Given the description of an element on the screen output the (x, y) to click on. 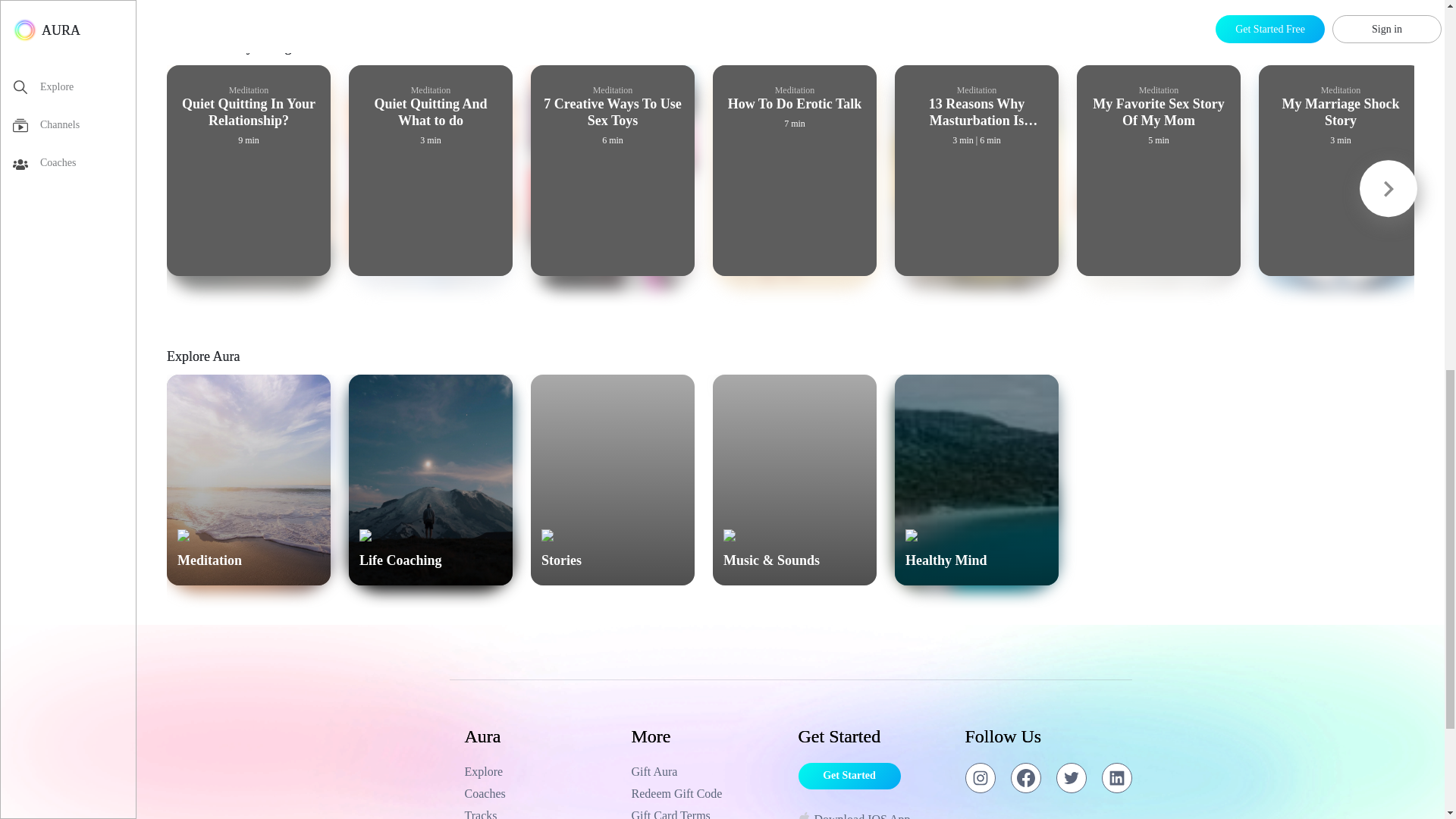
View All (1392, 51)
Tracks (539, 812)
Redeem Gift Code (706, 793)
Coaches (539, 793)
Gift Card Terms (706, 812)
Gift Aura (706, 771)
Explore (539, 771)
